Given the description of an element on the screen output the (x, y) to click on. 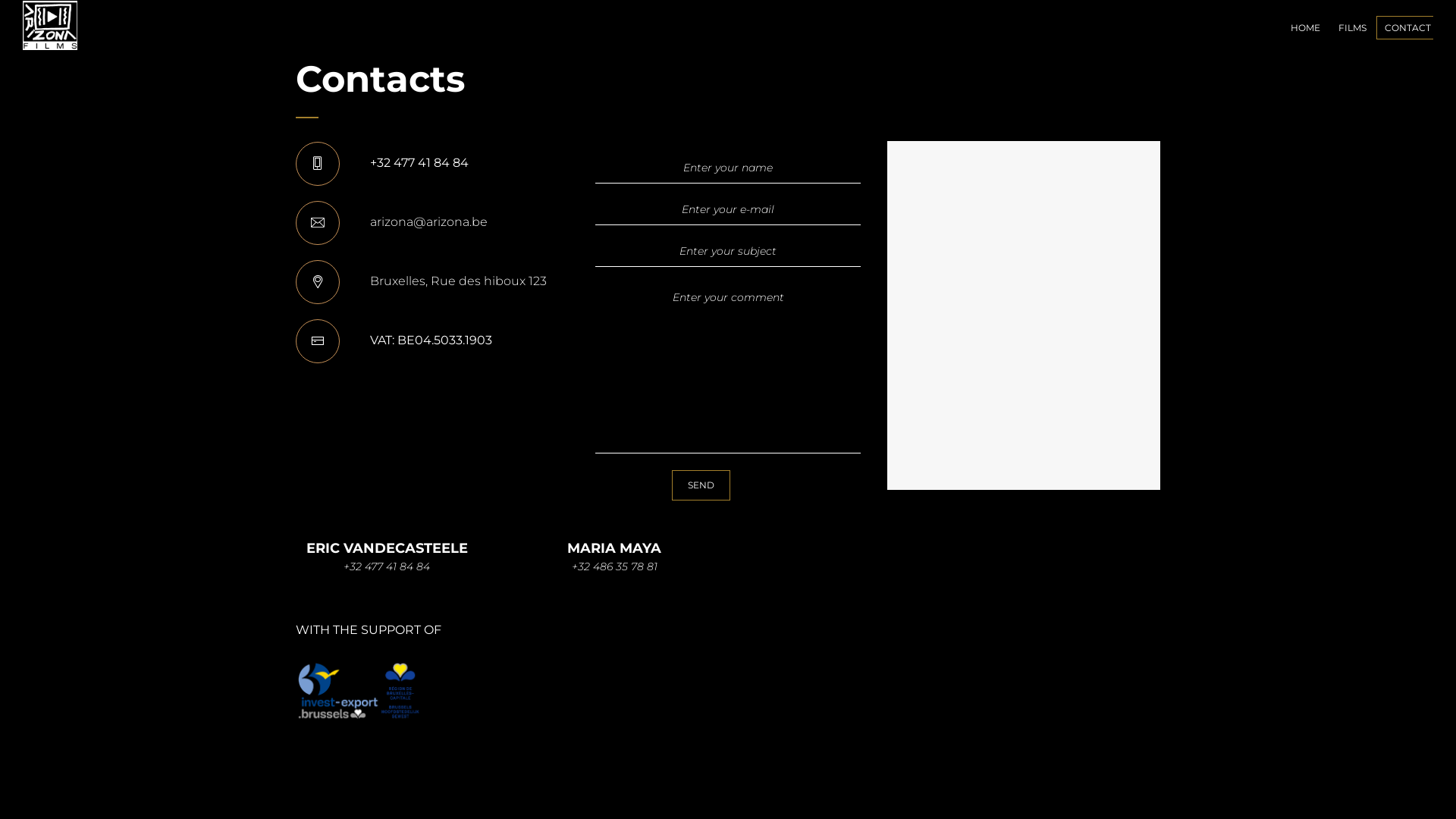
HOME Element type: text (1302, 28)
CONTACT Element type: text (1404, 28)
FILMS Element type: text (1349, 28)
send Element type: text (700, 485)
